Given the description of an element on the screen output the (x, y) to click on. 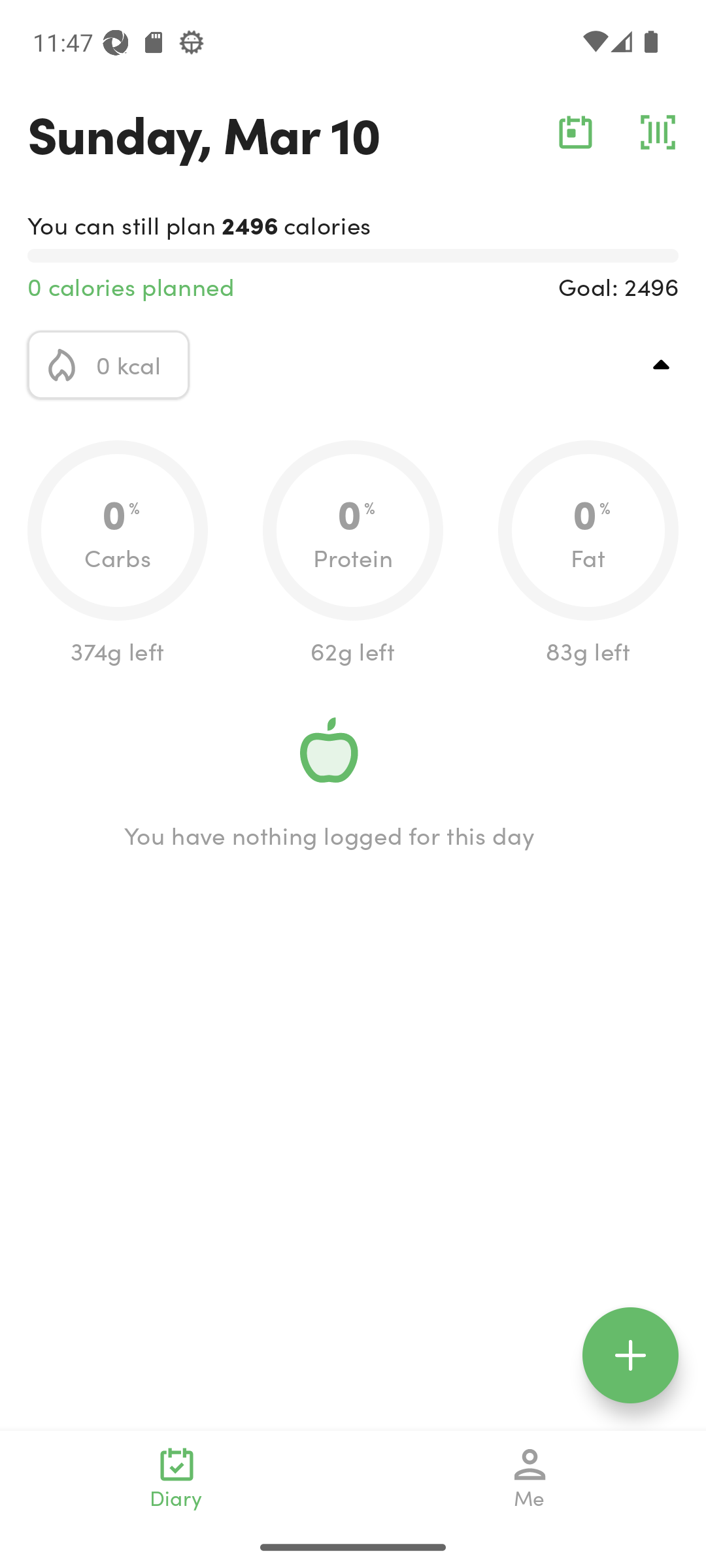
calendar_action (575, 132)
barcode_action (658, 132)
calorie_icon 0 kcal (108, 365)
top_right_action (661, 365)
0.0 0 % Carbs 374g left (117, 553)
0.0 0 % Protein 62g left (352, 553)
0.0 0 % Fat 83g left (588, 553)
floating_action_icon (630, 1355)
Me navigation_icon (529, 1478)
